Given the description of an element on the screen output the (x, y) to click on. 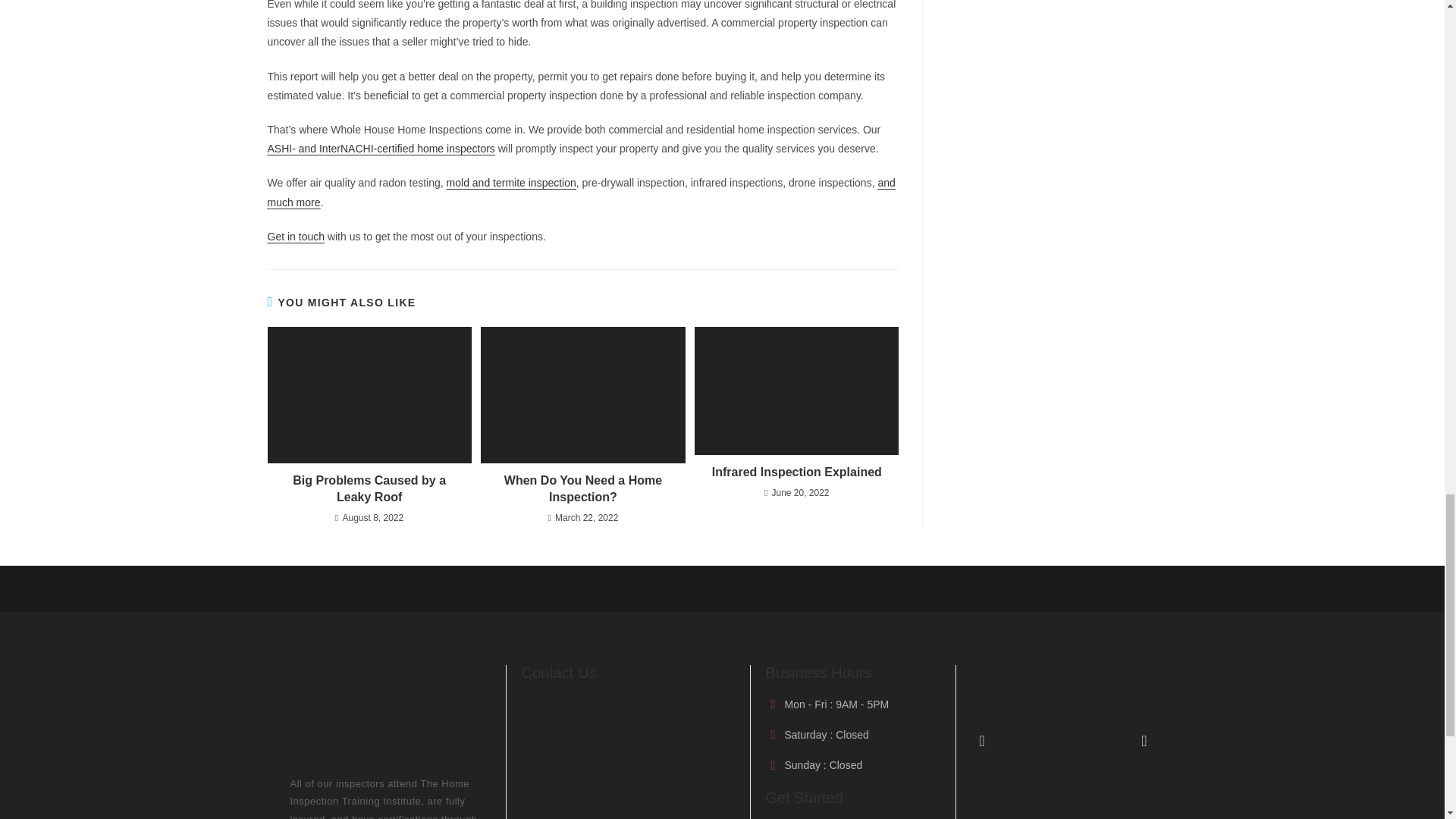
Infrared Inspection Explained 4 (796, 390)
Big Problems Caused by a Leaky Roof 2 (368, 394)
mold and termite inspection (511, 182)
ASHI- and InterNACHI-certified home inspectors (380, 148)
When Do You Need a Home Inspection? 3 (582, 394)
